Given the description of an element on the screen output the (x, y) to click on. 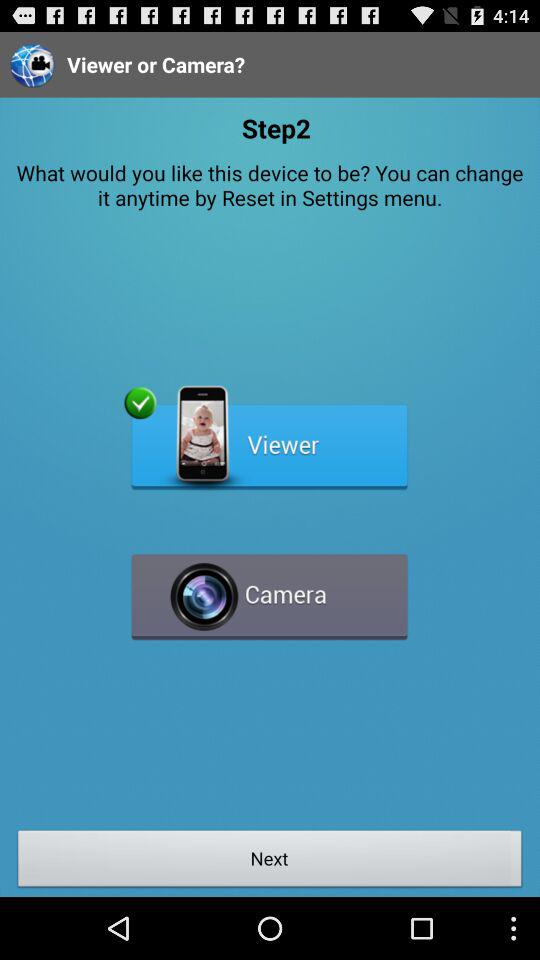
open camera (269, 588)
